Given the description of an element on the screen output the (x, y) to click on. 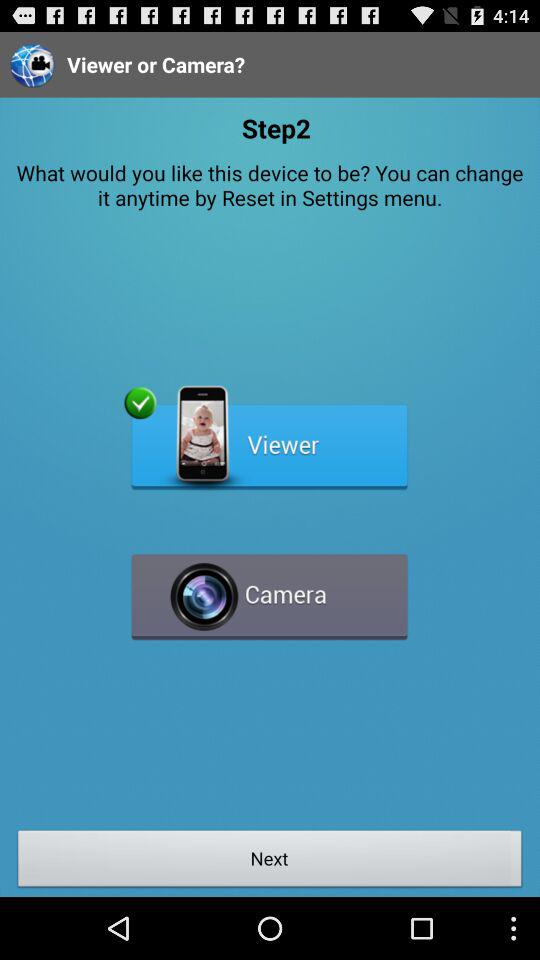
open camera (269, 588)
